Given the description of an element on the screen output the (x, y) to click on. 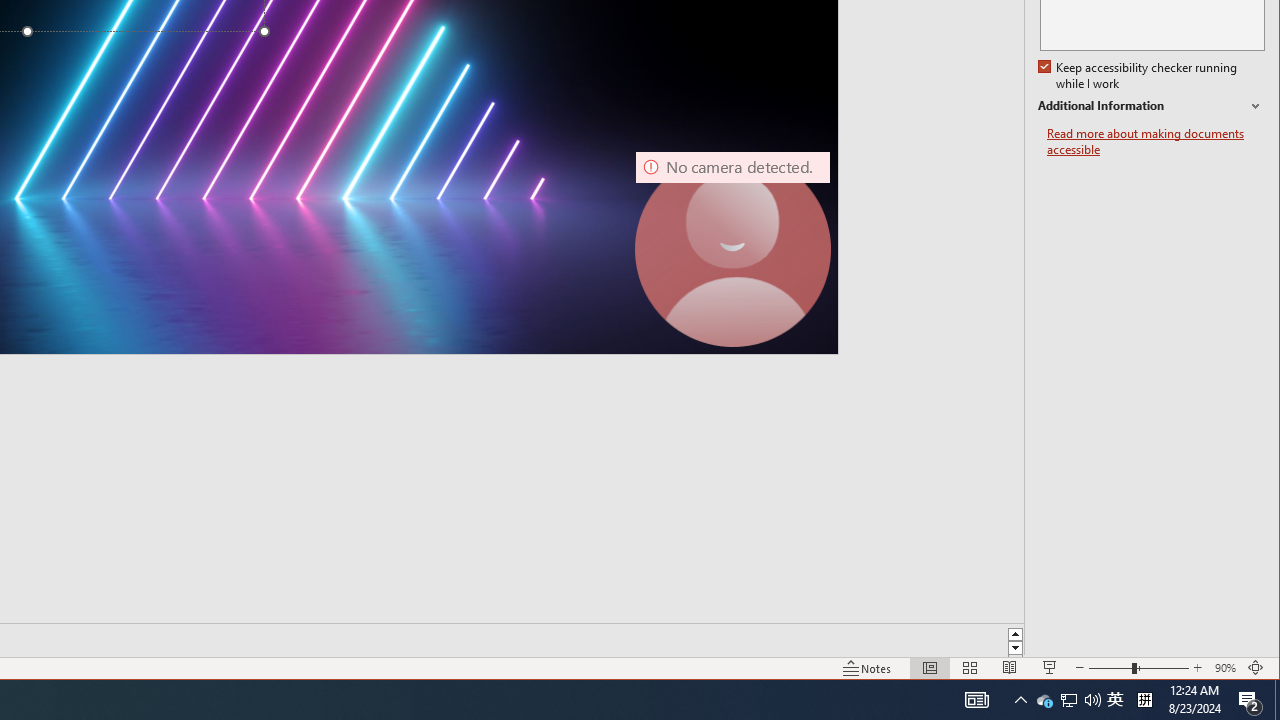
Zoom 90% (1225, 668)
Camera 7, No camera detected. (732, 249)
